Given the description of an element on the screen output the (x, y) to click on. 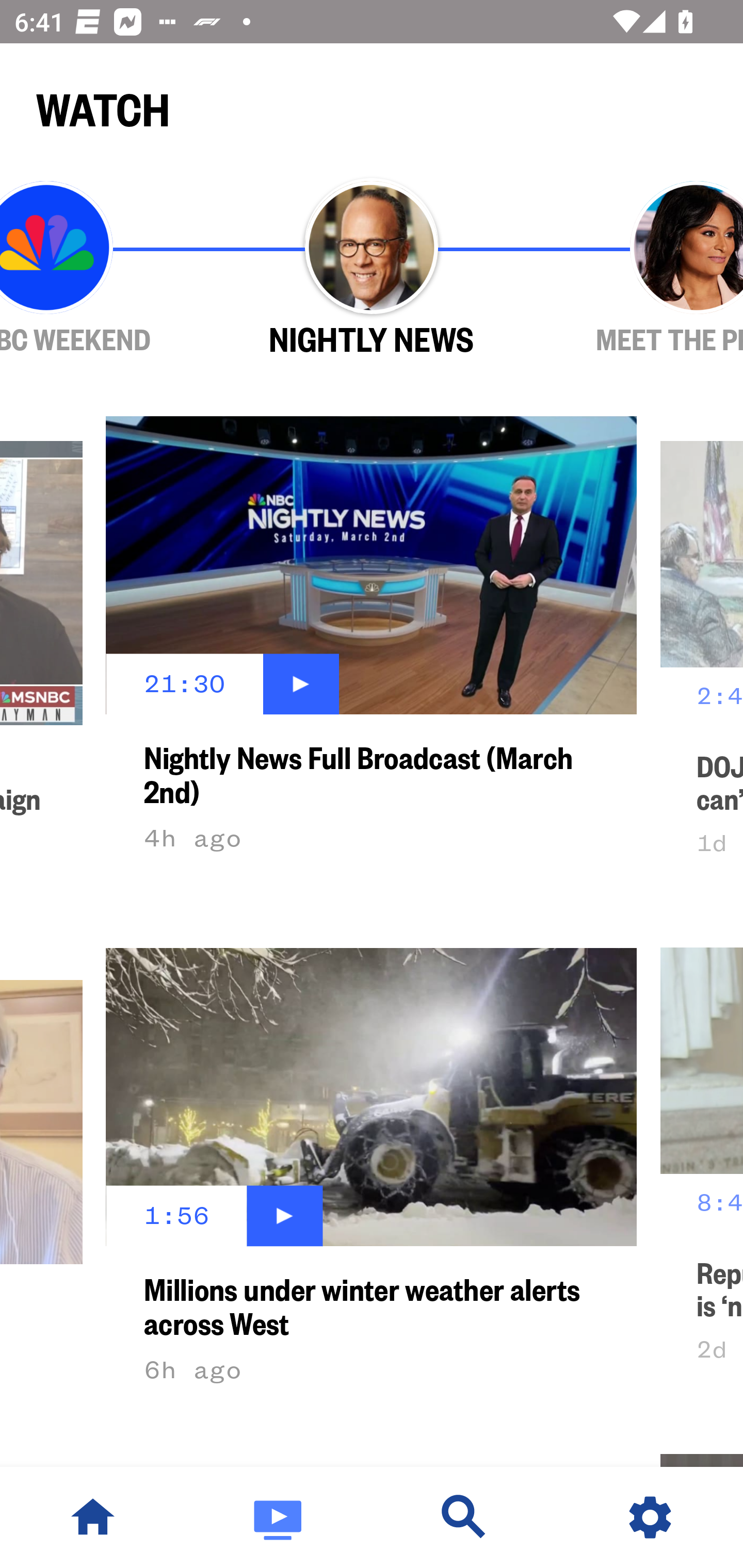
MSNBC WEEKEND (104, 268)
NIGHTLY NEWS (371, 268)
MEET THE PRESS (638, 268)
NBC News Home (92, 1517)
Discover (464, 1517)
Settings (650, 1517)
